Given the description of an element on the screen output the (x, y) to click on. 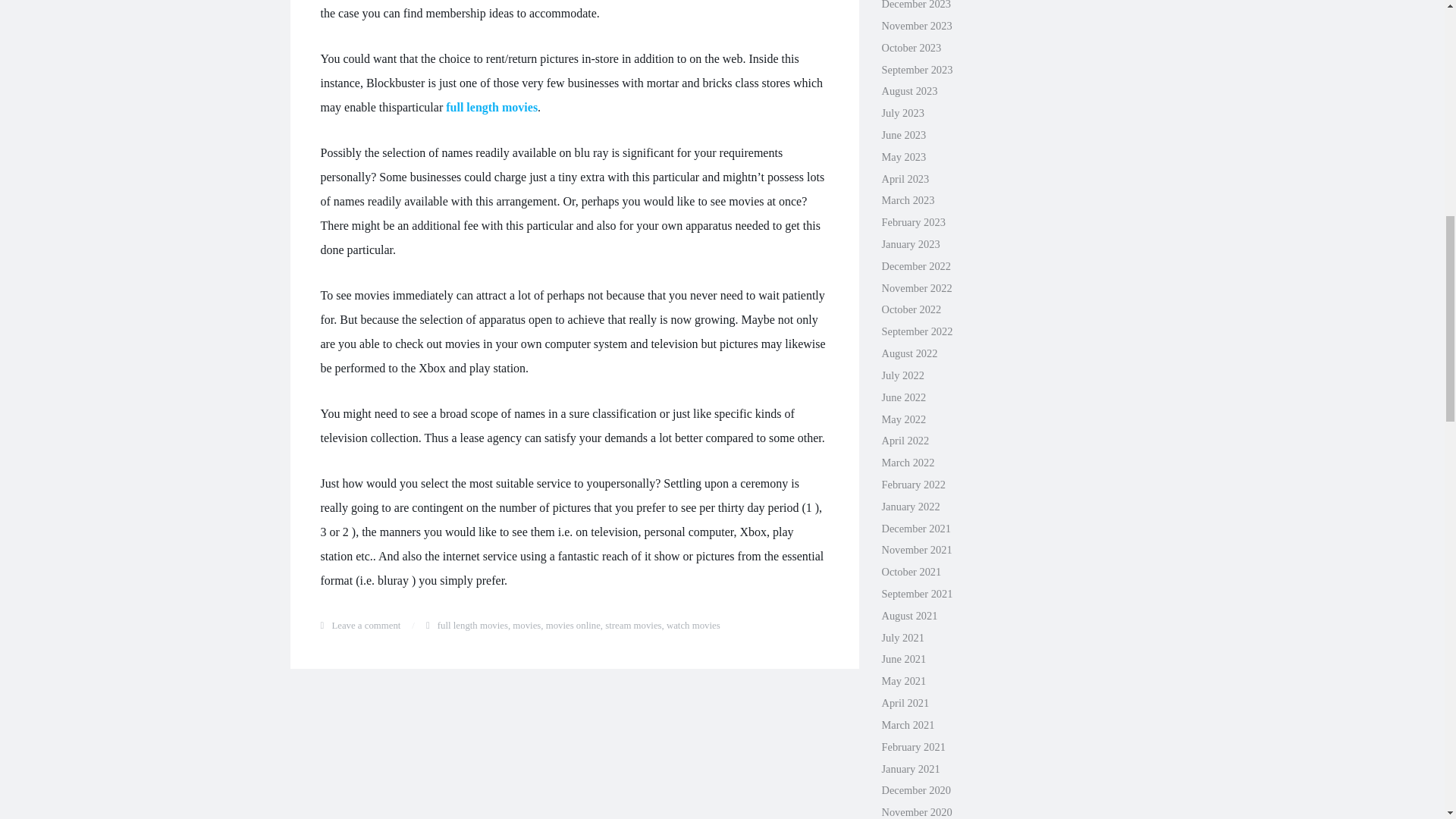
movies (526, 624)
October 2023 (910, 47)
June 2023 (903, 134)
movies online (572, 624)
Leave a comment (365, 624)
stream movies (633, 624)
August 2023 (908, 91)
full length movies (491, 106)
full length movies (473, 624)
November 2023 (916, 25)
December 2023 (915, 4)
May 2023 (903, 156)
September 2023 (916, 69)
watch movies (693, 624)
July 2023 (901, 112)
